Given the description of an element on the screen output the (x, y) to click on. 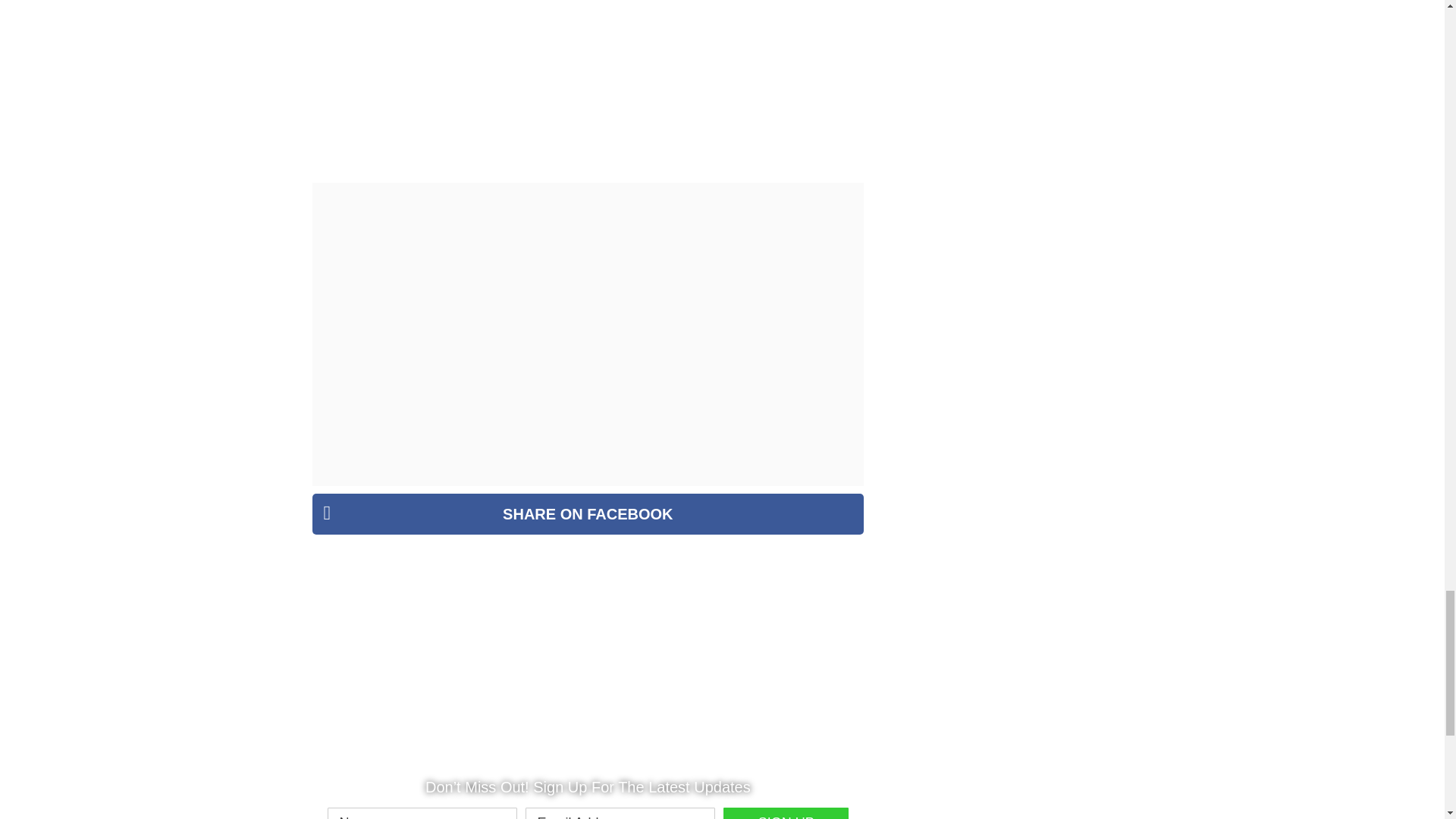
Sign Up (785, 813)
